Given the description of an element on the screen output the (x, y) to click on. 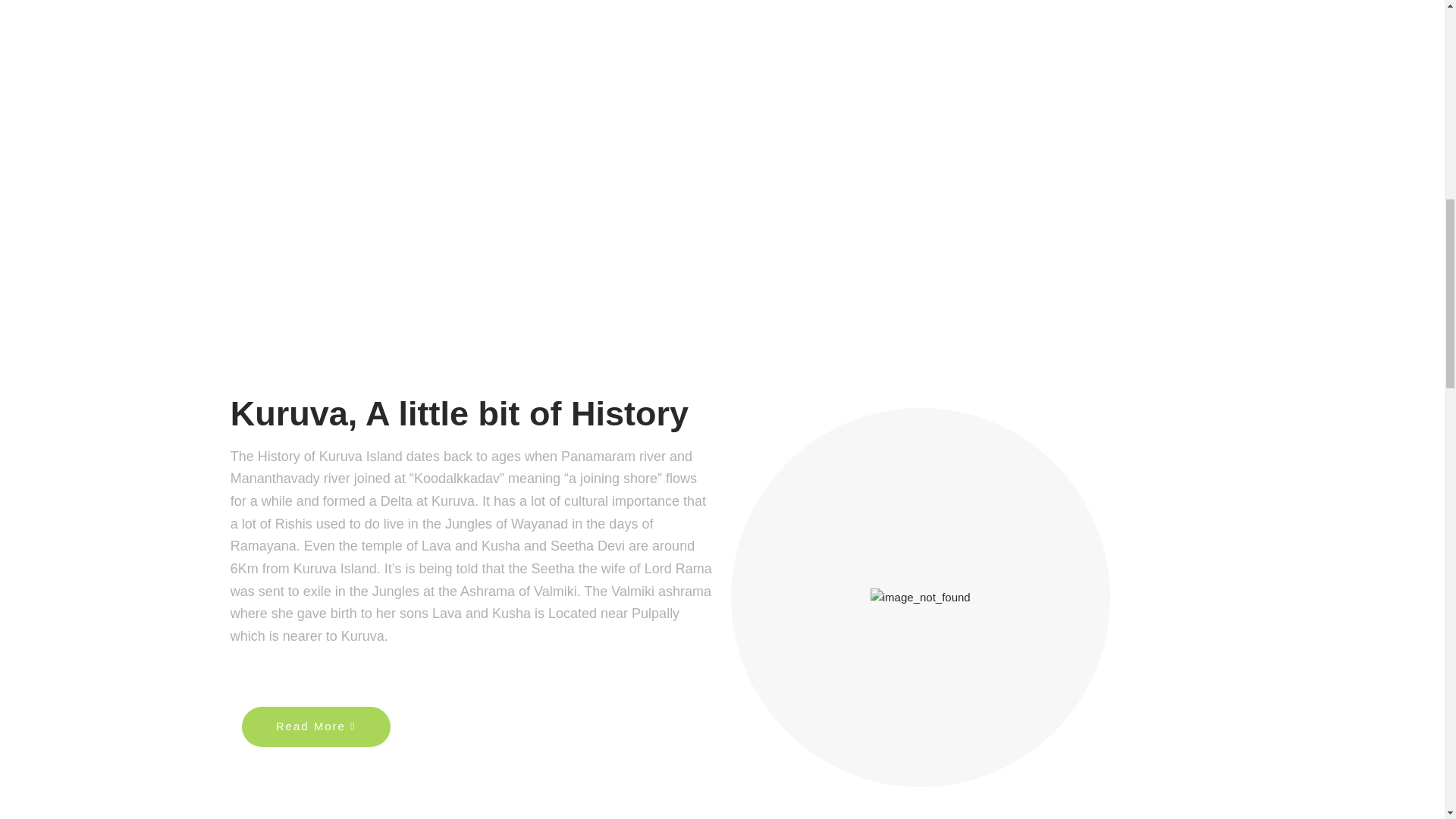
Read More (315, 726)
Read More (310, 726)
